Given the description of an element on the screen output the (x, y) to click on. 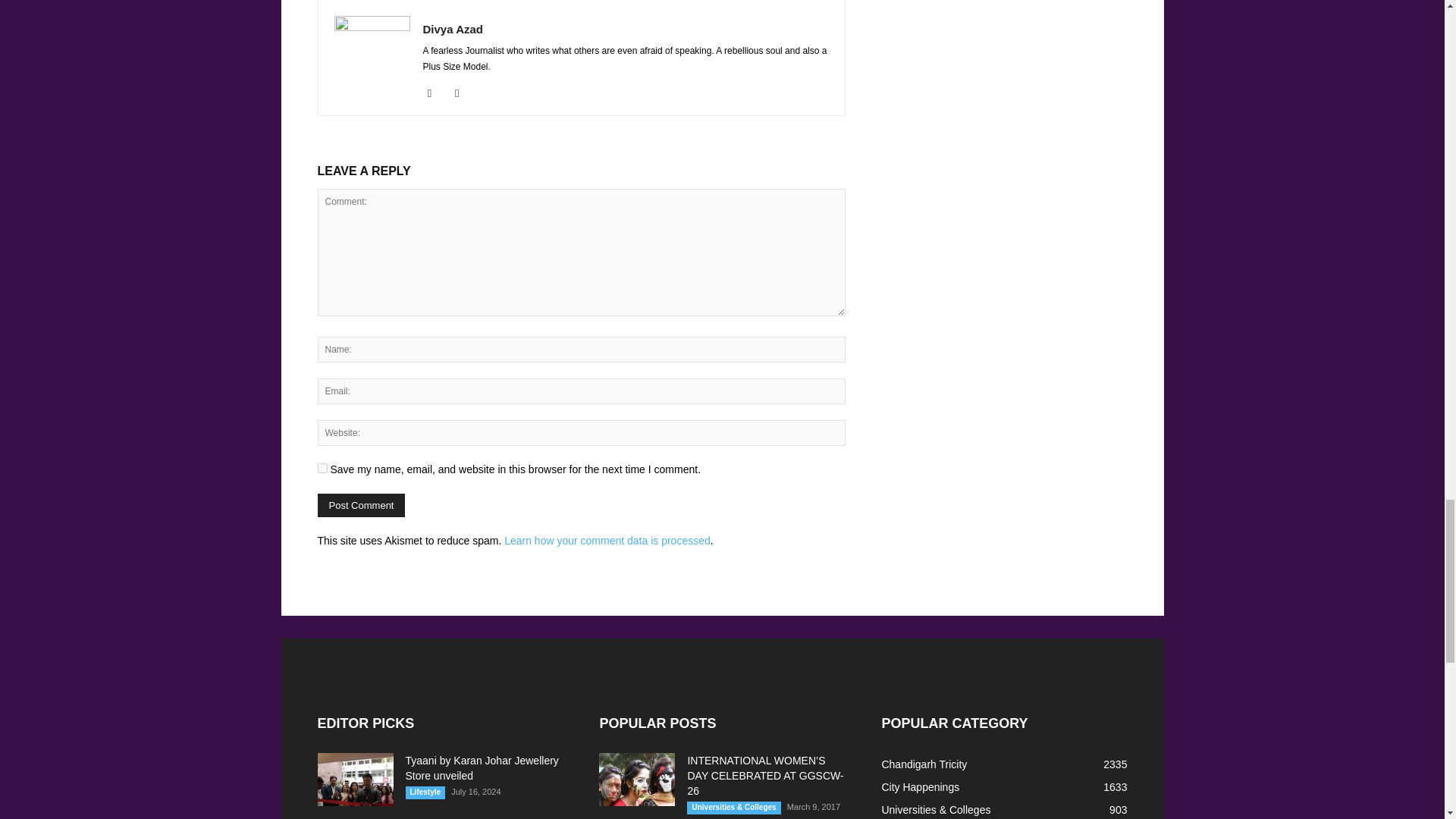
yes (321, 468)
Post Comment (360, 504)
